Given the description of an element on the screen output the (x, y) to click on. 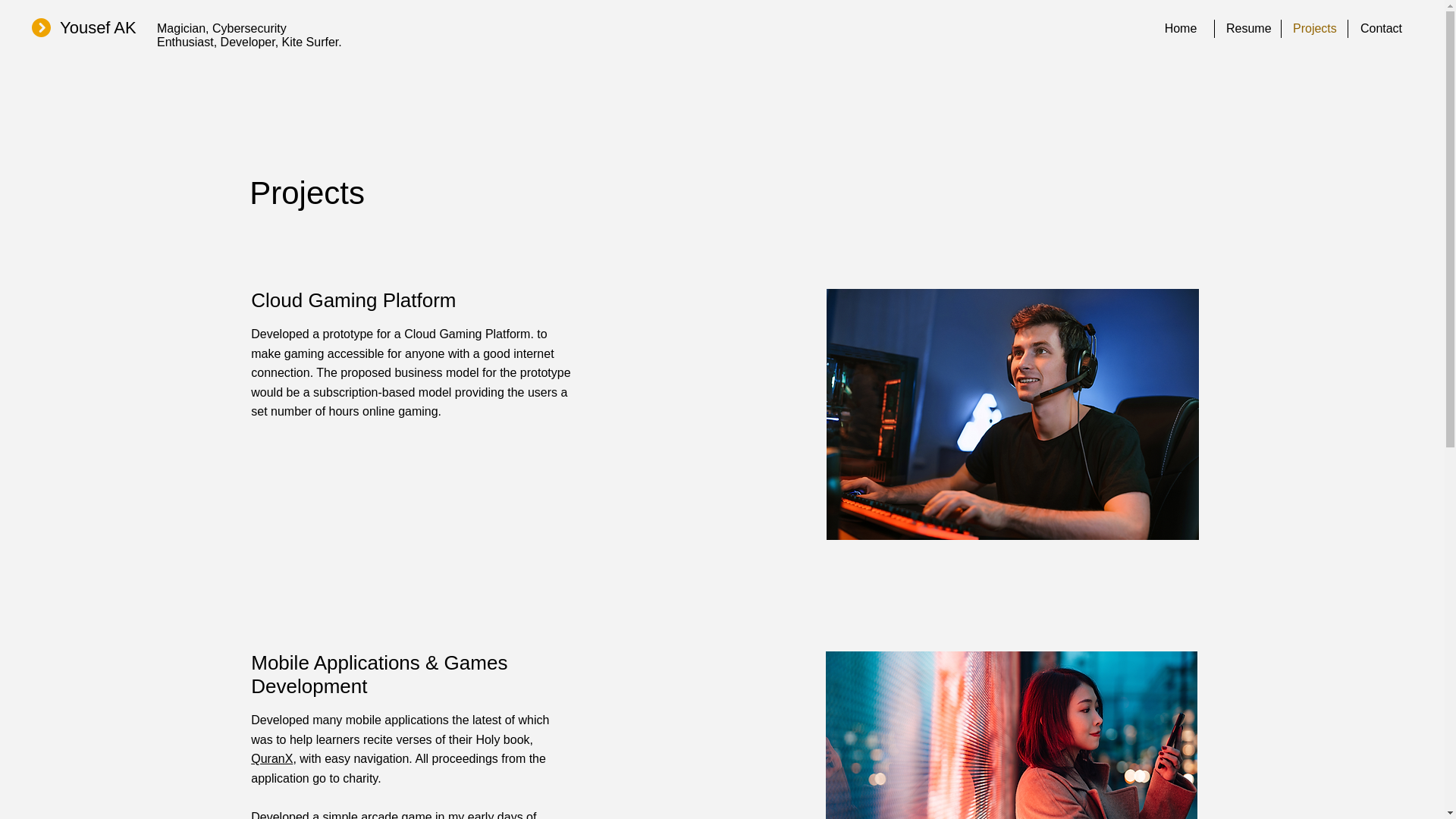
Yousef AK (97, 27)
Mob Apps (1010, 735)
CloudGaming (1012, 414)
Home (1180, 28)
Resume (1247, 28)
Contact (1380, 28)
Projects (1314, 28)
QuranX (271, 758)
